Given the description of an element on the screen output the (x, y) to click on. 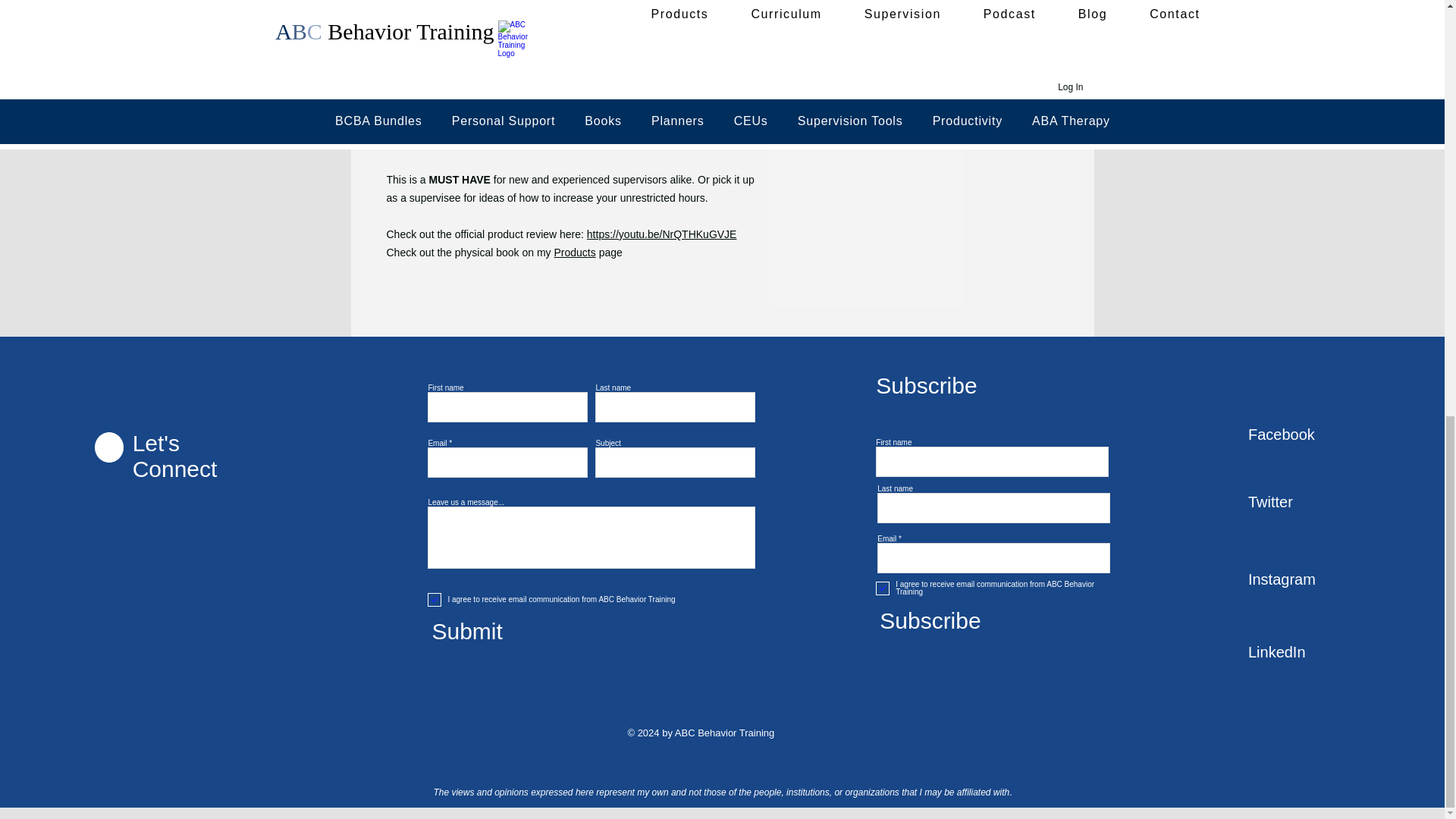
Subscribe (985, 621)
Submit (537, 631)
Twitter (1301, 502)
LinkedIn (1301, 653)
Facebook (1301, 435)
Products (574, 252)
Instagram (1301, 580)
